Given the description of an element on the screen output the (x, y) to click on. 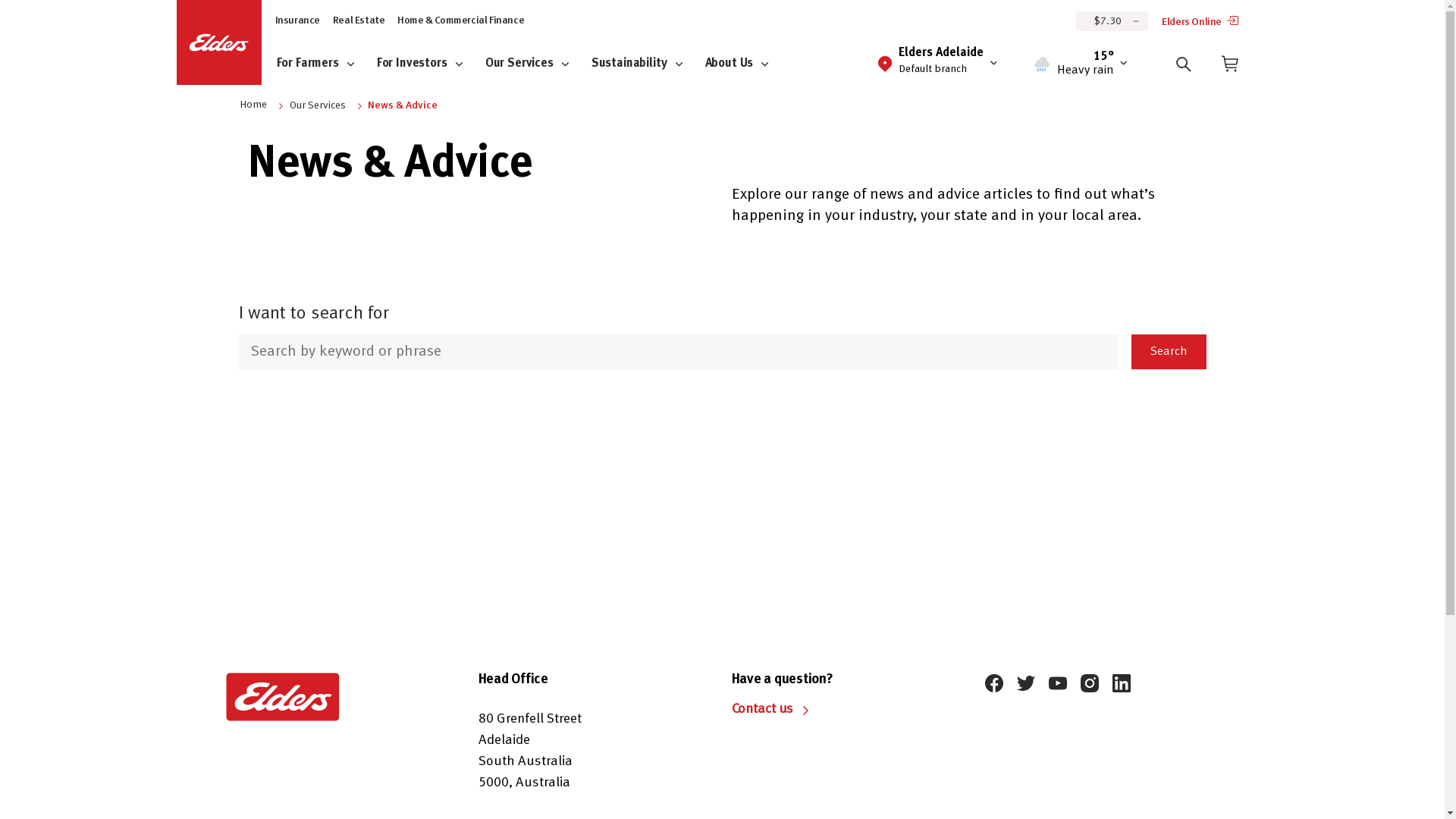
Search Element type: text (1168, 351)
About Us Element type: text (745, 63)
For Investors Element type: text (427, 63)
Contact us Element type: text (762, 710)
Insurance Element type: text (296, 21)
Elders Online Element type: text (1199, 23)
Home Element type: text (252, 104)
Our Services Element type: text (316, 105)
Real Estate Element type: text (358, 21)
Sustainability Element type: text (644, 63)
Our Services Element type: text (534, 63)
Home & Commercial Finance Element type: text (460, 21)
$7.30 Element type: text (1111, 20)
For Farmers Element type: text (322, 63)
